Given the description of an element on the screen output the (x, y) to click on. 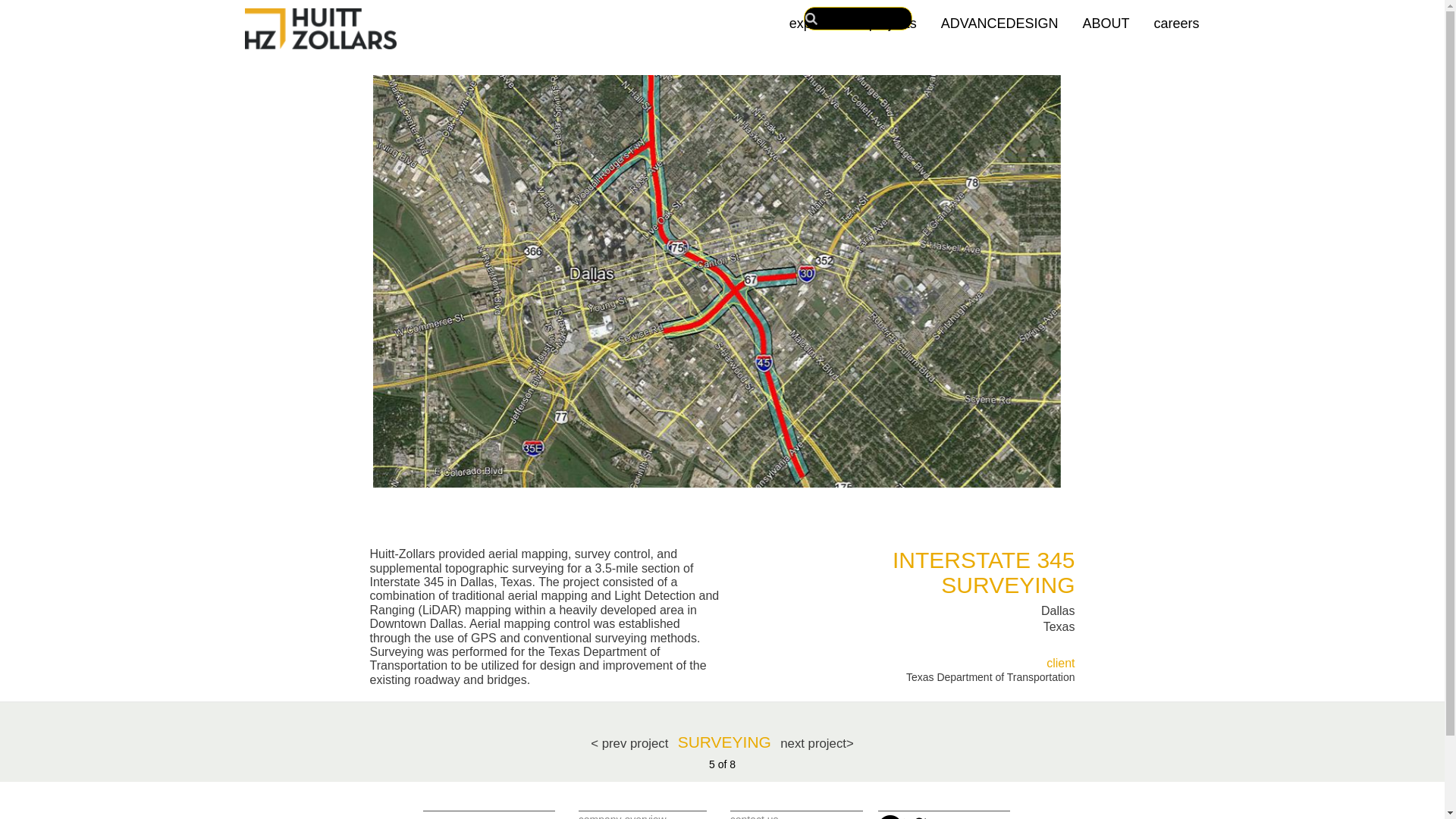
expertise (817, 17)
projects (892, 17)
Skip to main content (721, 1)
Expertise (817, 17)
Projects (892, 17)
Search (811, 18)
Enter the terms you wish to search for. (857, 18)
Search (811, 18)
